Given the description of an element on the screen output the (x, y) to click on. 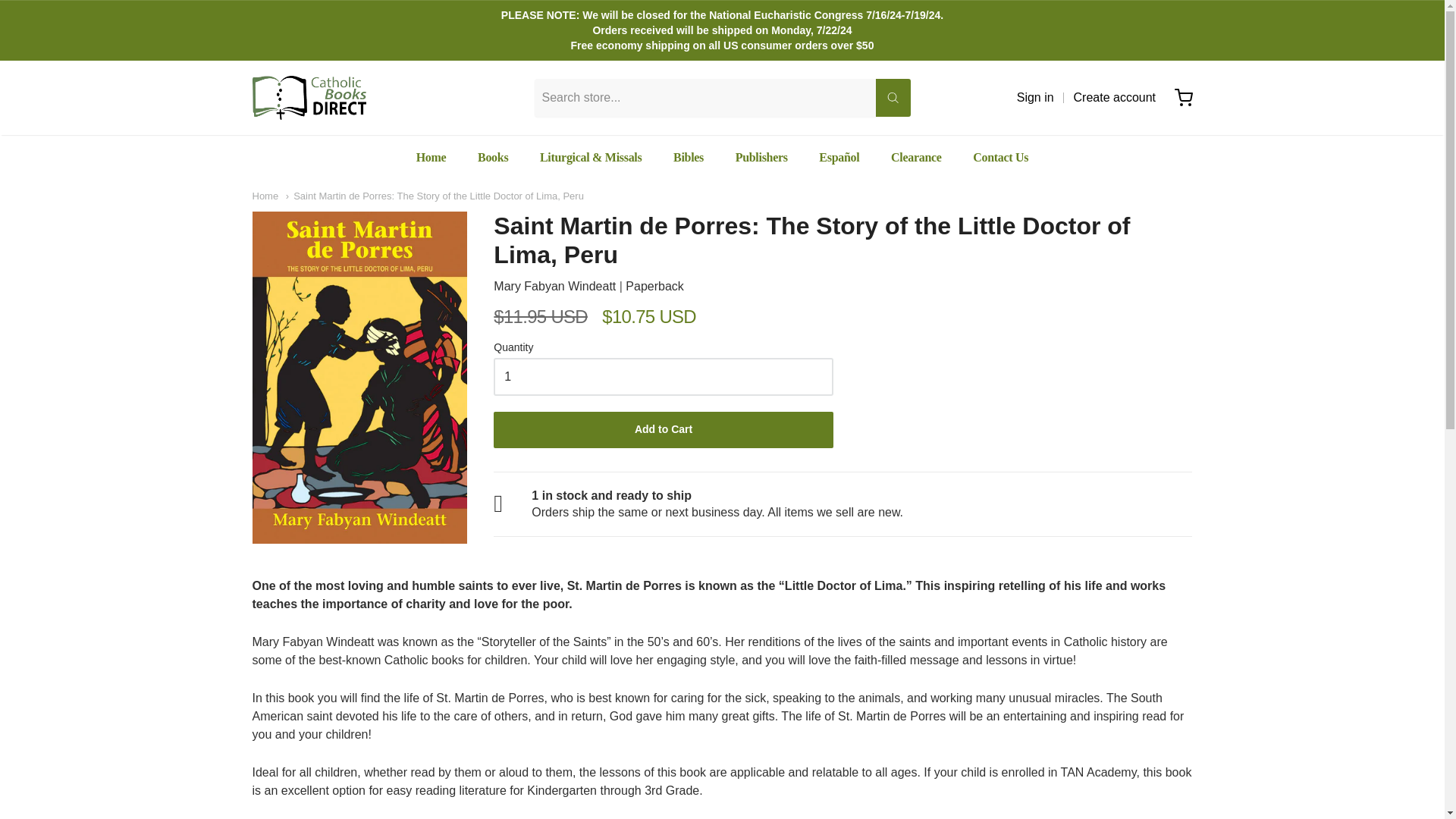
Books (492, 157)
Home (431, 157)
Sign in (1035, 97)
Home (264, 195)
Catholic Books Direct (308, 97)
1 (662, 376)
Create account (1115, 97)
